Given the description of an element on the screen output the (x, y) to click on. 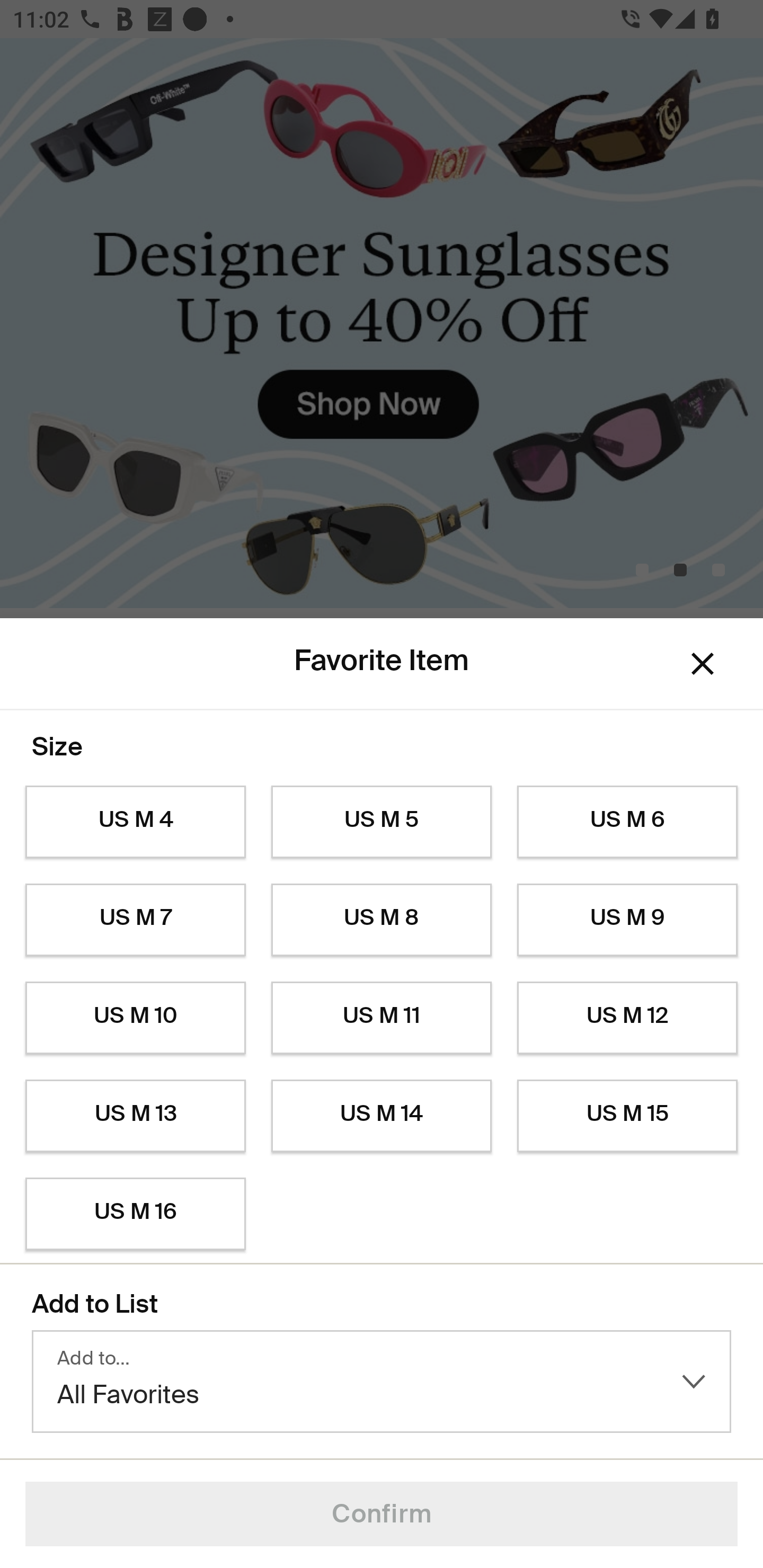
Dismiss (702, 663)
US M 4 (135, 822)
US M 5 (381, 822)
US M 6 (627, 822)
US M 7 (135, 919)
US M 8 (381, 919)
US M 9 (627, 919)
US M 10 (135, 1018)
US M 11 (381, 1018)
US M 12 (627, 1018)
US M 13 (135, 1116)
US M 14 (381, 1116)
US M 15 (627, 1116)
US M 16 (135, 1214)
Add to… All Favorites (381, 1381)
Confirm (381, 1513)
